Given the description of an element on the screen output the (x, y) to click on. 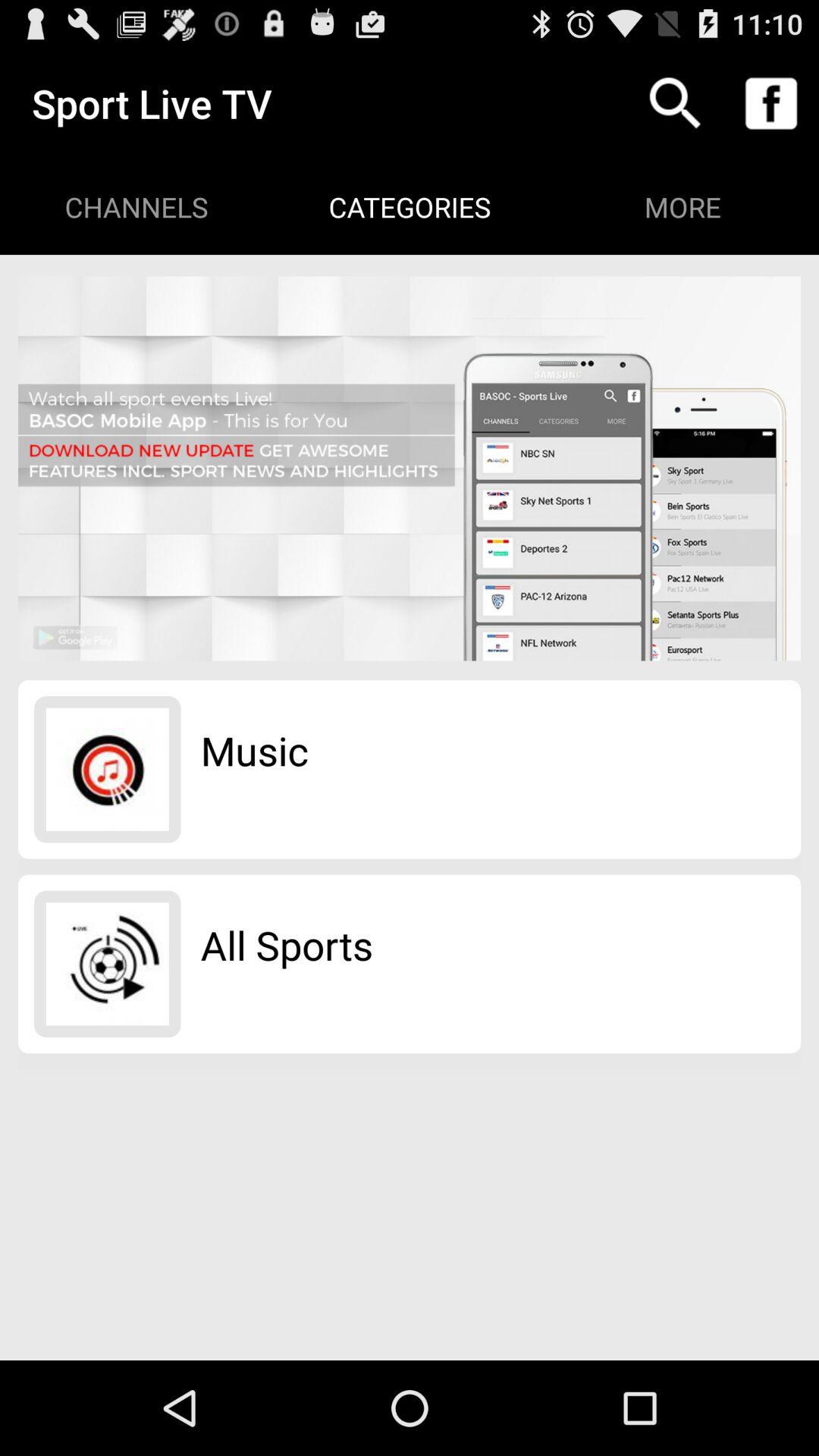
press all sports app (286, 944)
